Given the description of an element on the screen output the (x, y) to click on. 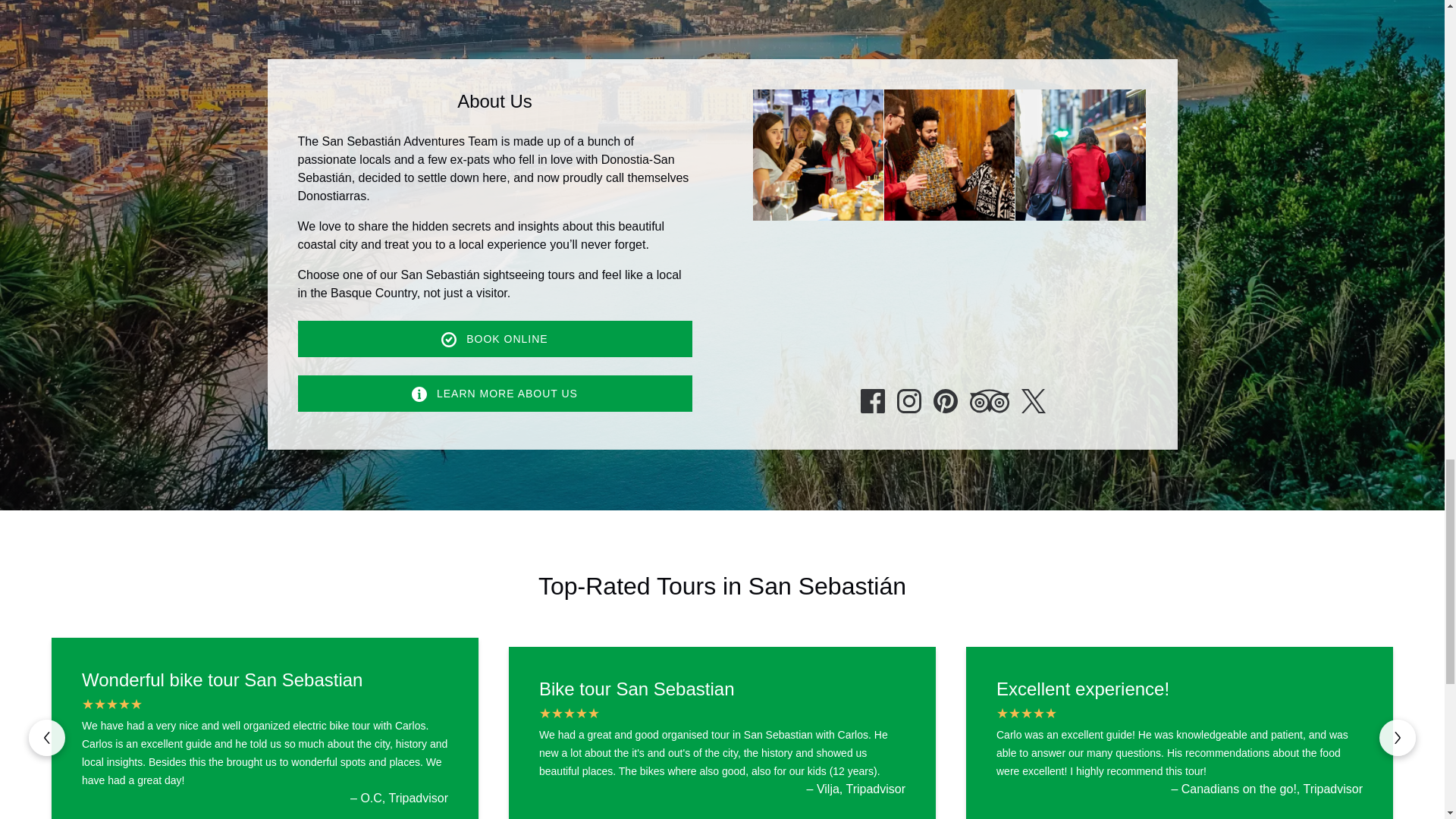
INFO LEARN MORE ABOUT US (494, 393)
CHECKMARK BOOK ONLINE (494, 339)
INFO (419, 394)
CHECKMARK (449, 339)
Tasting-San-Sebastian-Ciders (948, 154)
Foto 21-2-21 15 36 29 (1079, 154)
